Given the description of an element on the screen output the (x, y) to click on. 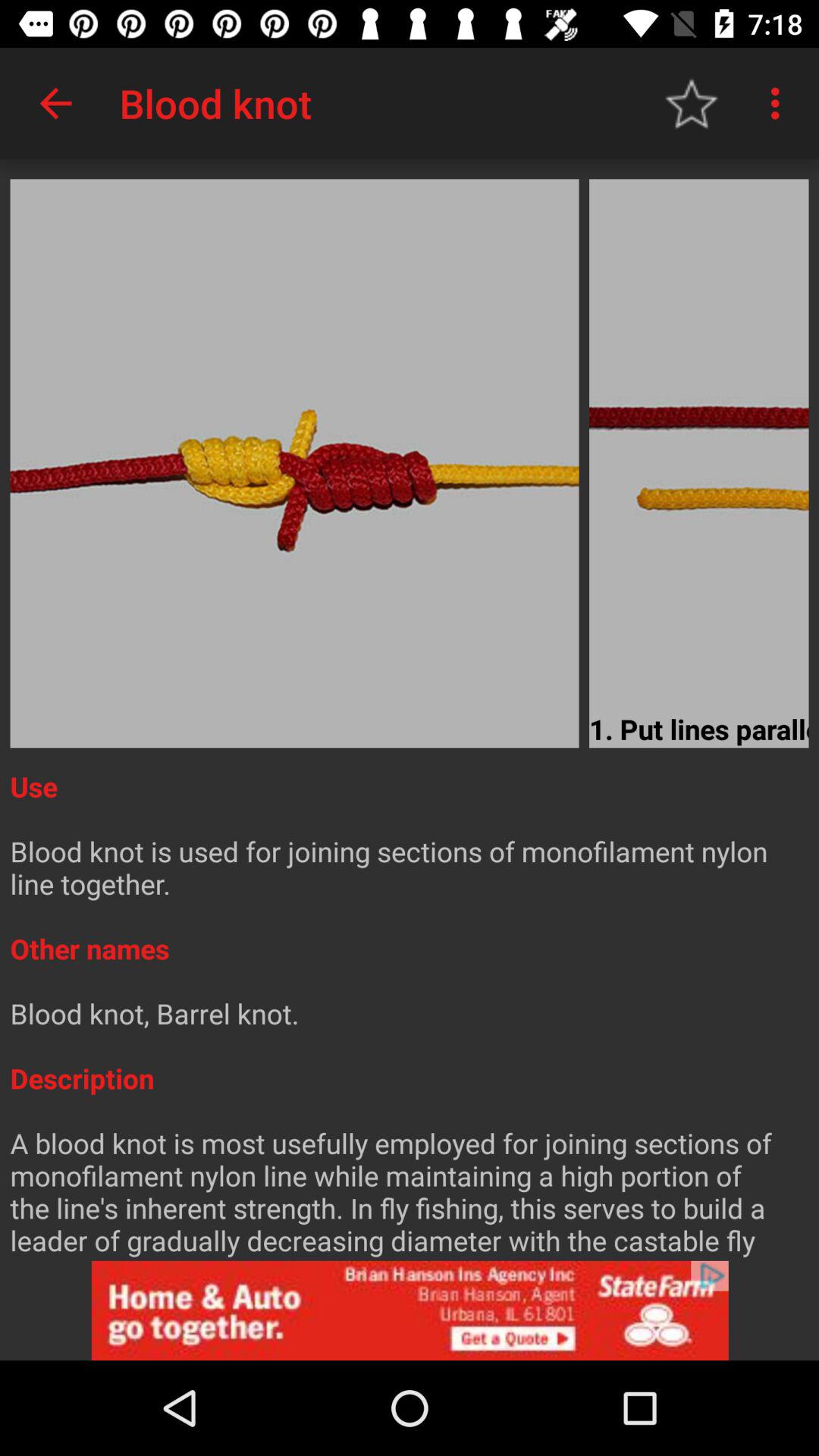
know about the advertisement (409, 1310)
